Given the description of an element on the screen output the (x, y) to click on. 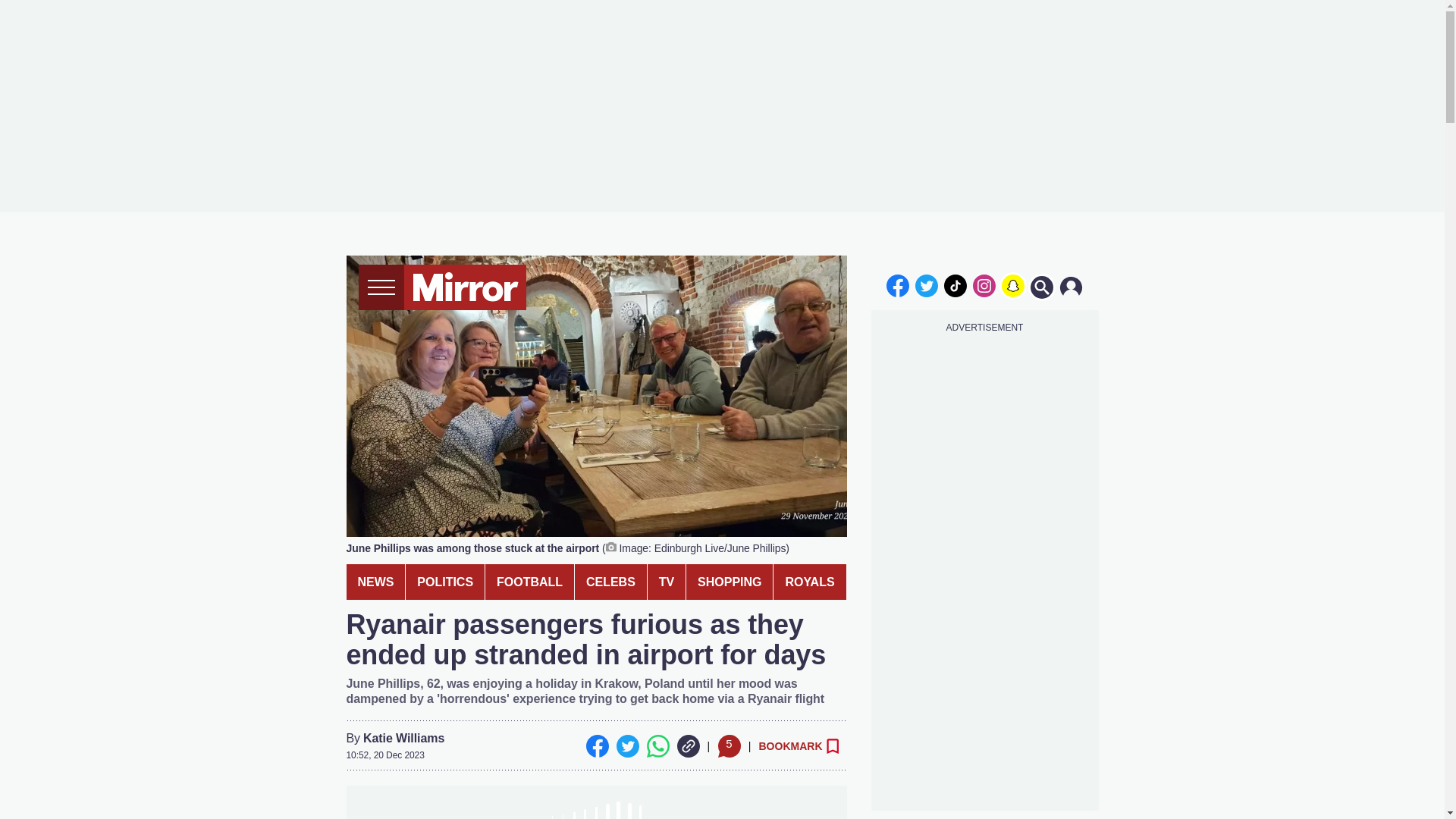
snapchat (1012, 285)
Twitter (627, 745)
facebook (897, 285)
instagram (984, 285)
twitter (926, 285)
NEWS (375, 581)
Facebook (596, 745)
POLITICS (445, 581)
tiktok (955, 285)
CELEBS (610, 581)
